Given the description of an element on the screen output the (x, y) to click on. 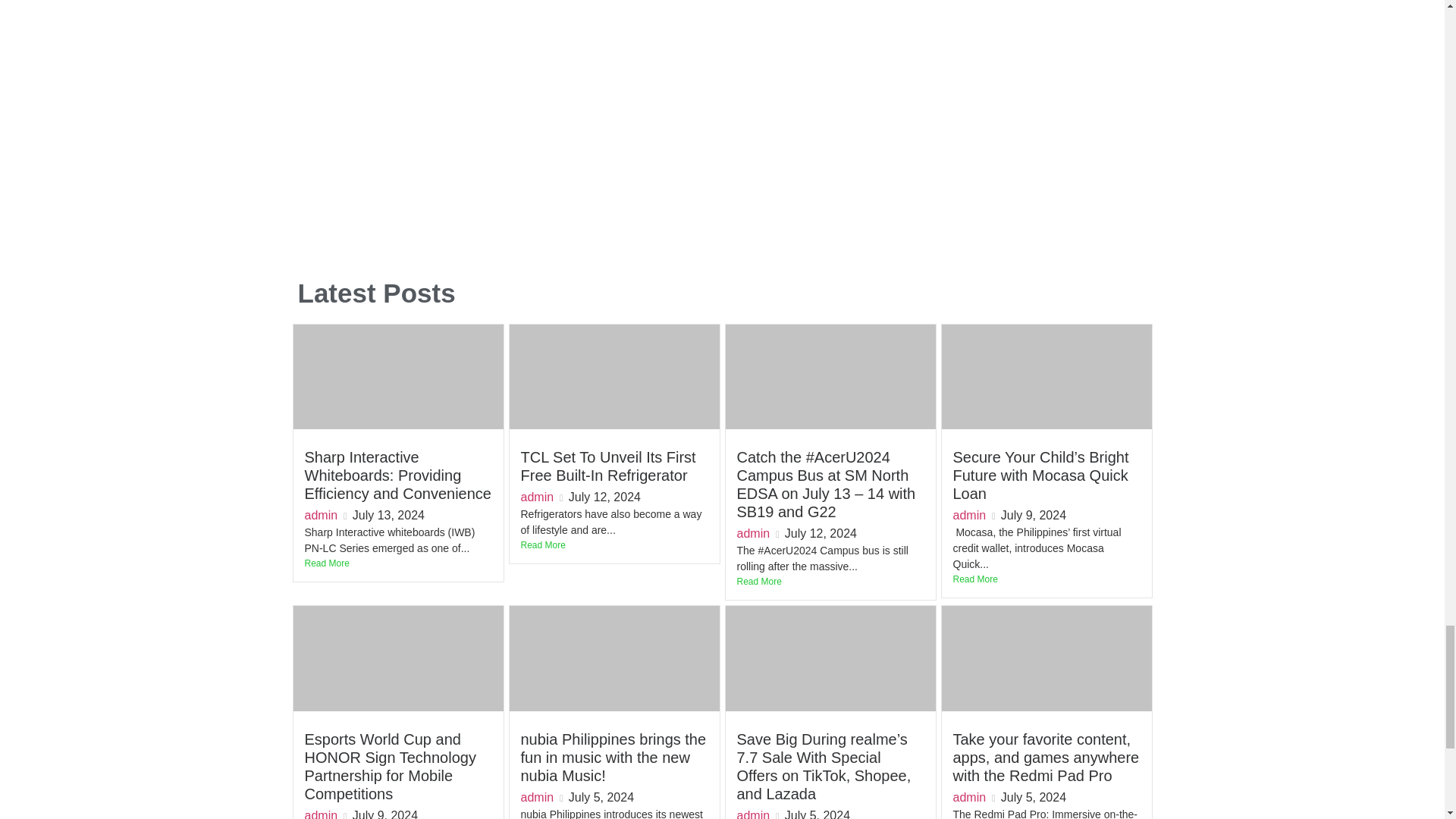
Posts by admin (968, 514)
Posts by admin (320, 814)
TCL Set To Unveil Its First Free Built-In Refrigerator (607, 466)
Posts by admin (753, 533)
Posts by admin (320, 514)
Posts by admin (536, 496)
Posts by admin (536, 797)
